Given the description of an element on the screen output the (x, y) to click on. 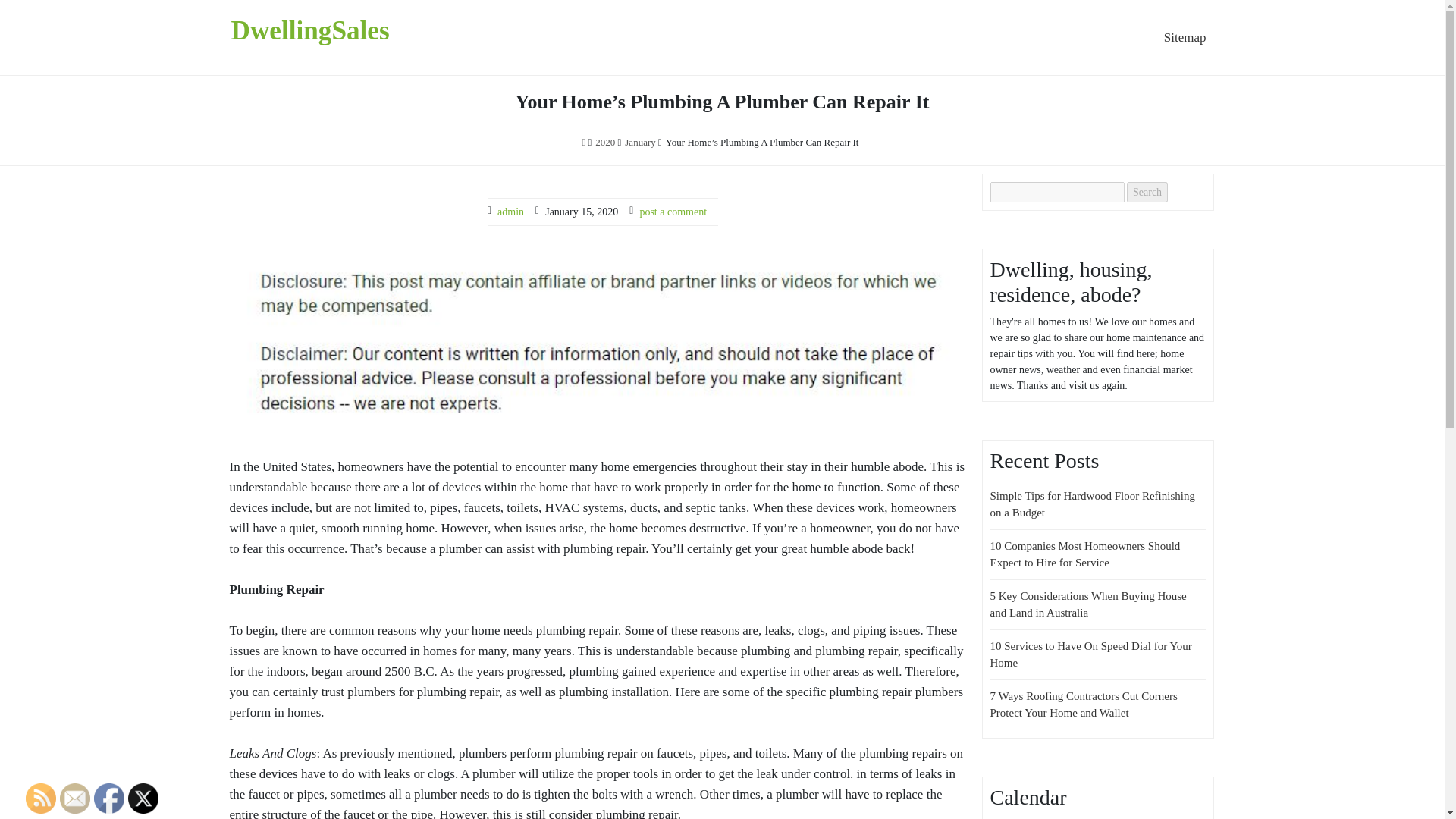
5 Key Considerations When Buying House and Land in Australia (1088, 604)
Sunday (1068, 817)
Tuesday (1008, 817)
Sitemap (1185, 37)
Thursday (1032, 817)
January (639, 142)
Simple Tips for Hardwood Floor Refinishing on a Budget (1092, 504)
Search (1146, 191)
Search (1146, 191)
DwellingSales (309, 30)
Follow by Email (74, 798)
Saturday (1056, 817)
RSS (41, 798)
